Given the description of an element on the screen output the (x, y) to click on. 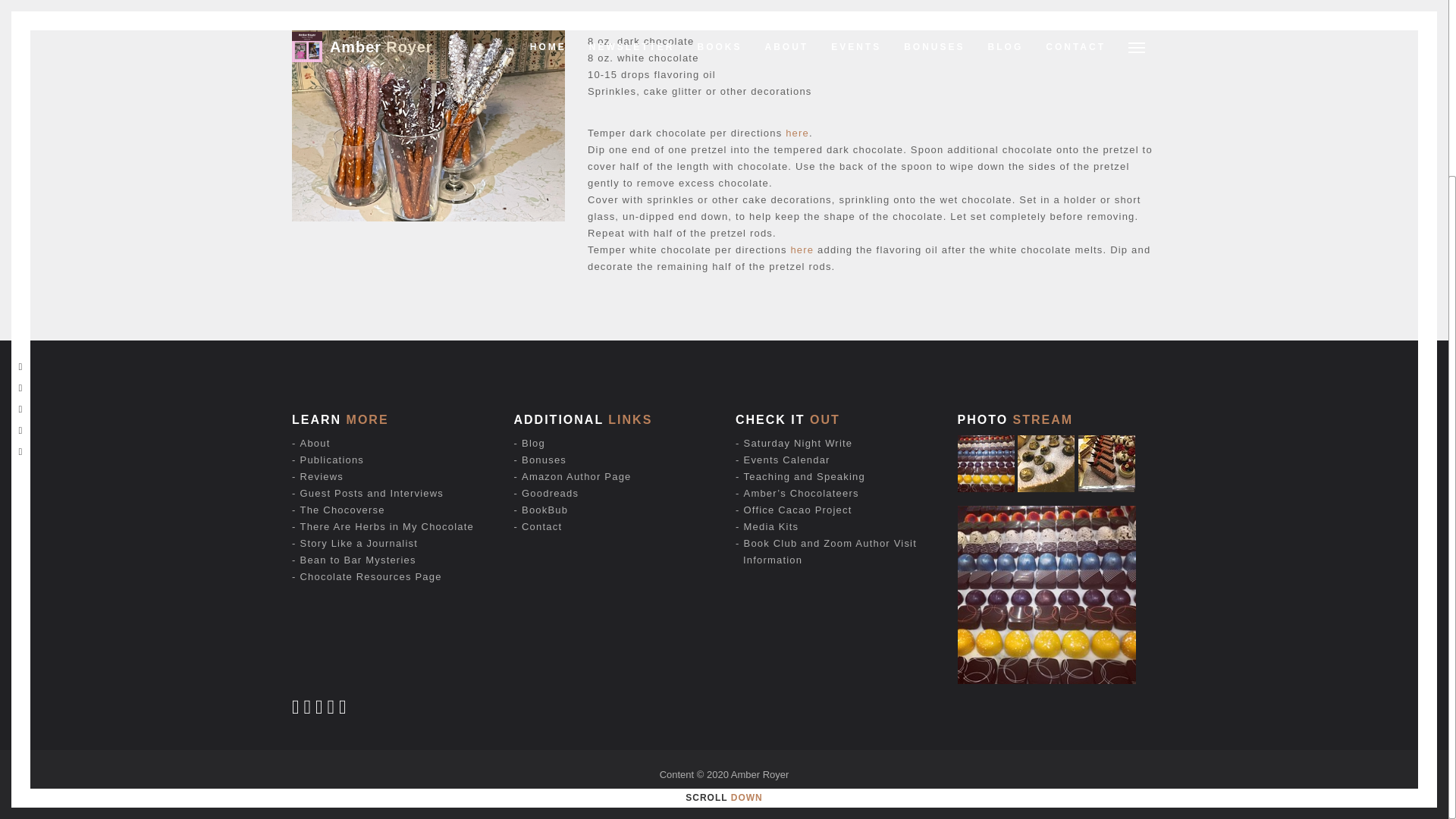
SCROLL DOWN (723, 573)
here (797, 132)
here (801, 249)
SCROLL DOWN (723, 573)
About (314, 442)
